Given the description of an element on the screen output the (x, y) to click on. 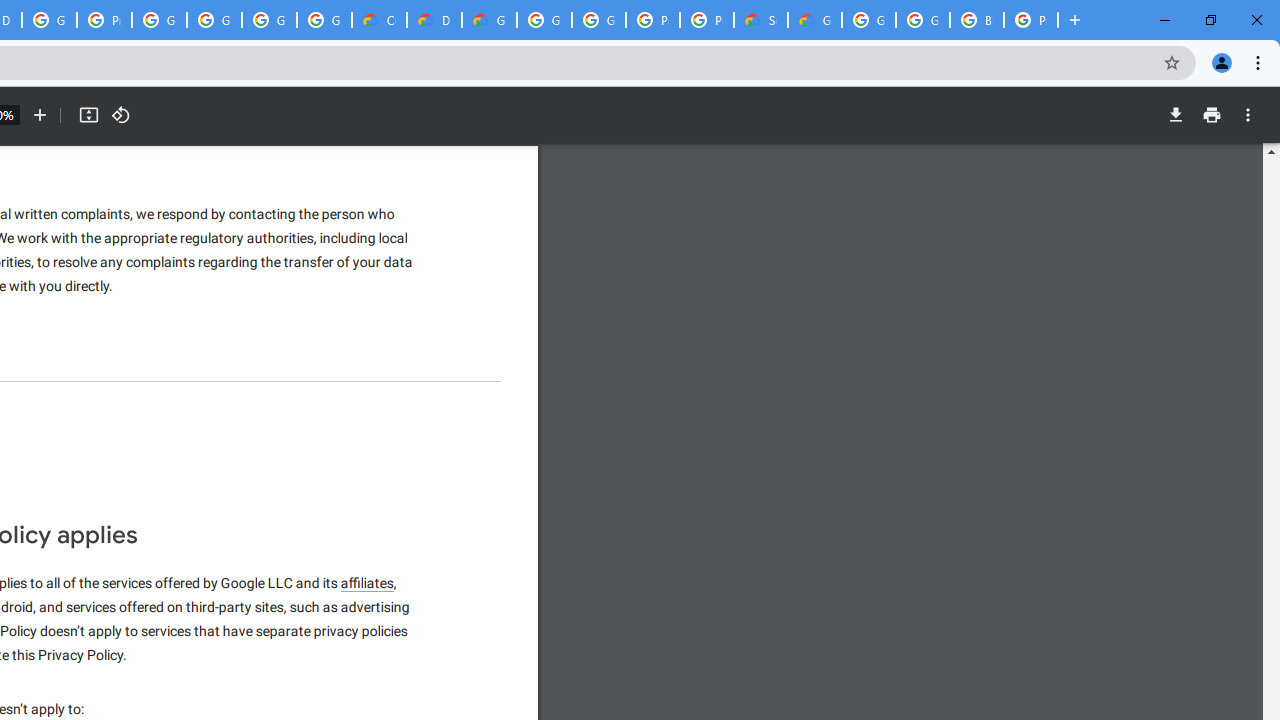
Google Workspace - Specific Terms (324, 20)
affiliates (367, 584)
Print (1211, 115)
Gemini for Business and Developers | Google Cloud (489, 20)
Customer Care | Google Cloud (379, 20)
More actions (1247, 115)
Support Hub | Google Cloud (760, 20)
Download (1175, 115)
